Given the description of an element on the screen output the (x, y) to click on. 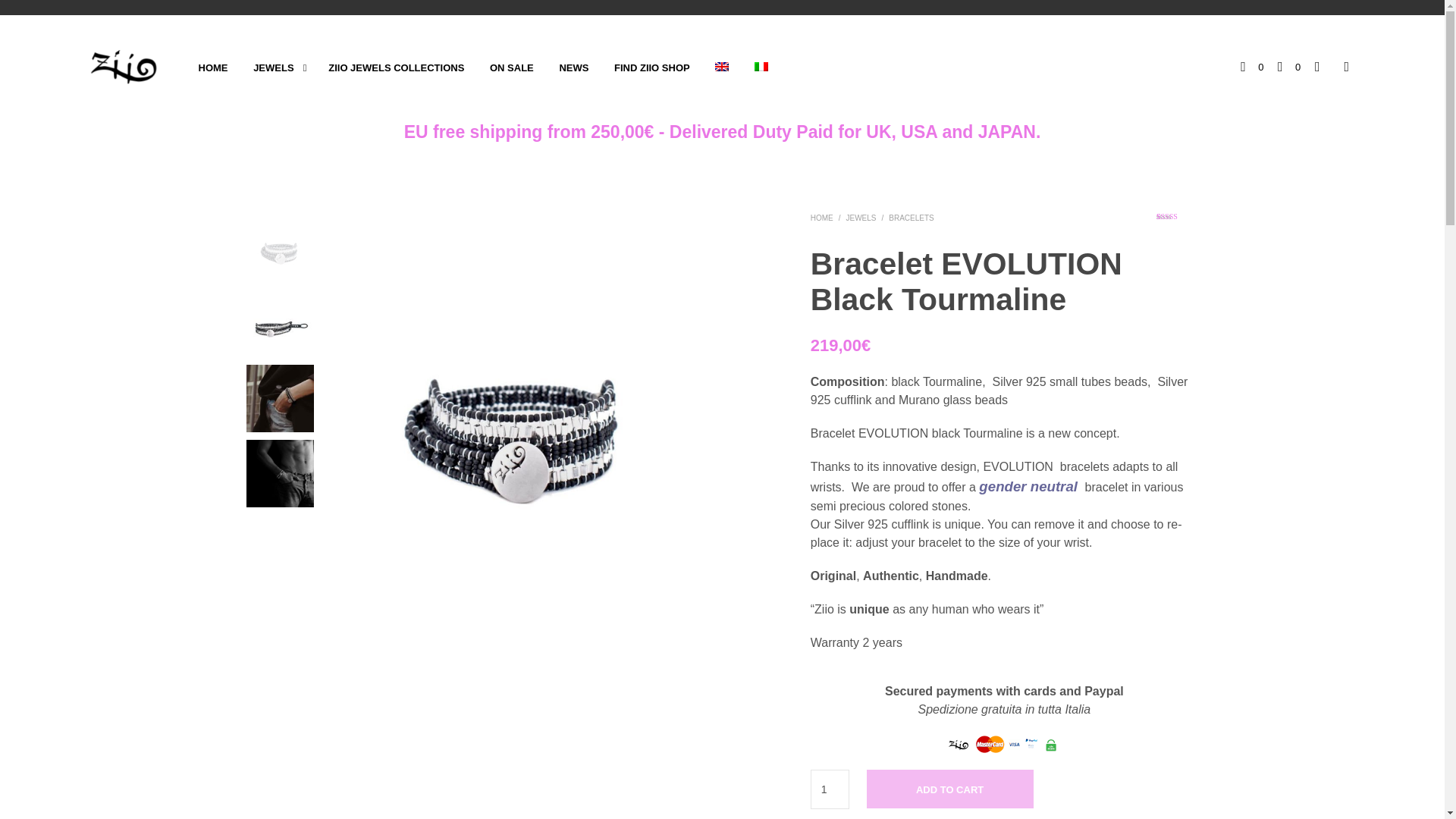
ZIIO JEWELS COLLECTIONS (396, 68)
BRACELETS (910, 217)
JEWELS (272, 68)
ADD TO CART (949, 788)
ON SALE (511, 68)
0 (1289, 67)
FIND ZIIO SHOP (651, 68)
0 (1251, 67)
1 (829, 789)
HOME (821, 217)
NEWS (573, 68)
JEWELS (860, 217)
HOME (212, 68)
